Given the description of an element on the screen output the (x, y) to click on. 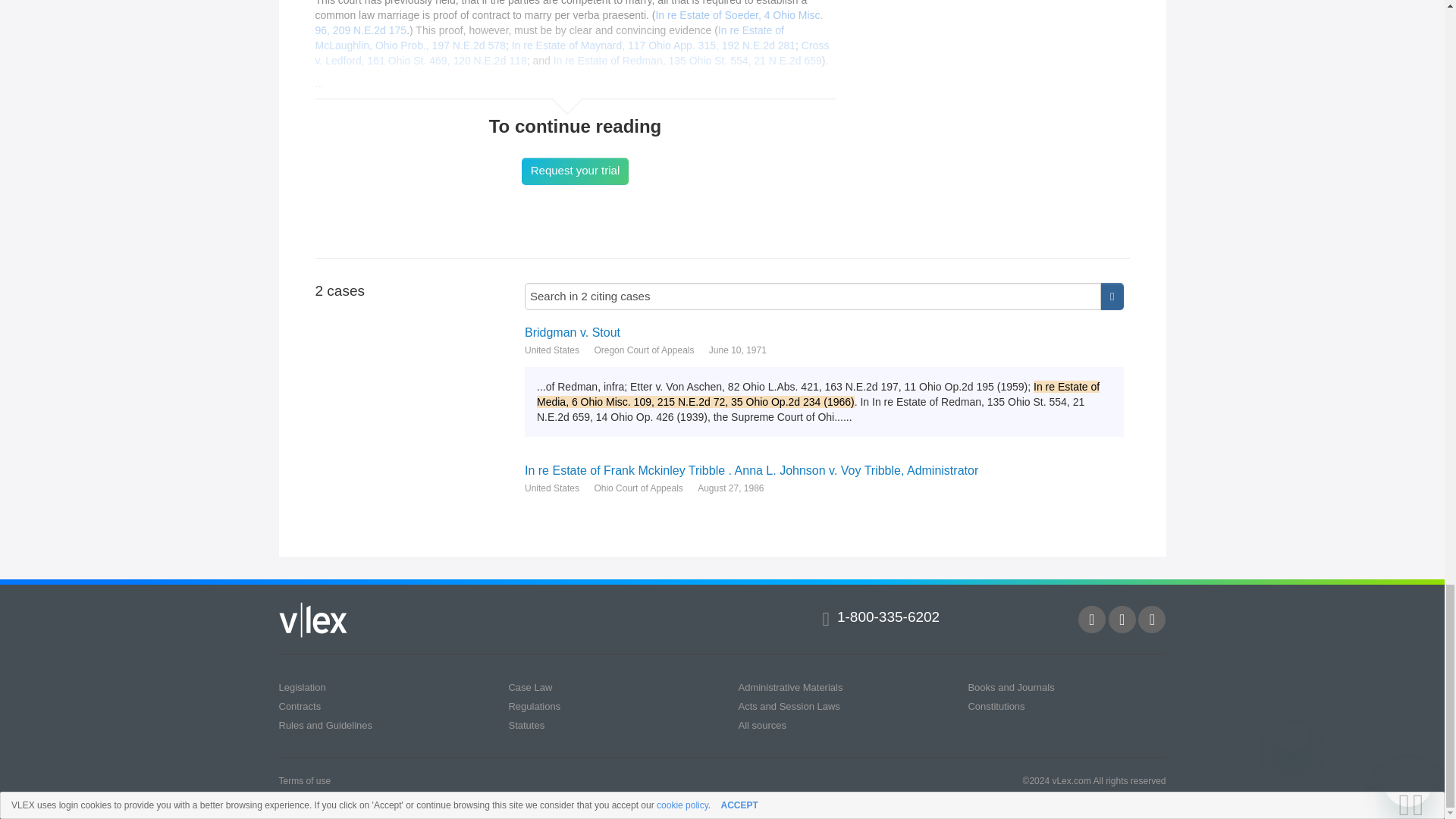
In re Estate of Redman, 135 Ohio St. 554, 21 N.E.2d 659 (687, 60)
Oregon Court of Appeals (644, 350)
June 10, 1971 (738, 350)
In re Estate of Maynard, 117 Ohio App. 315, 192 N.E.2d 281 (653, 45)
Contracts (300, 706)
All sources (762, 725)
Regulations (534, 706)
Legislation (302, 686)
Case Law (529, 686)
Bridgman v. Stout (824, 332)
Legislation (302, 686)
vLex (313, 619)
Administrative Materials (790, 686)
Acts and Session Laws (789, 706)
Case Law (529, 686)
